Given the description of an element on the screen output the (x, y) to click on. 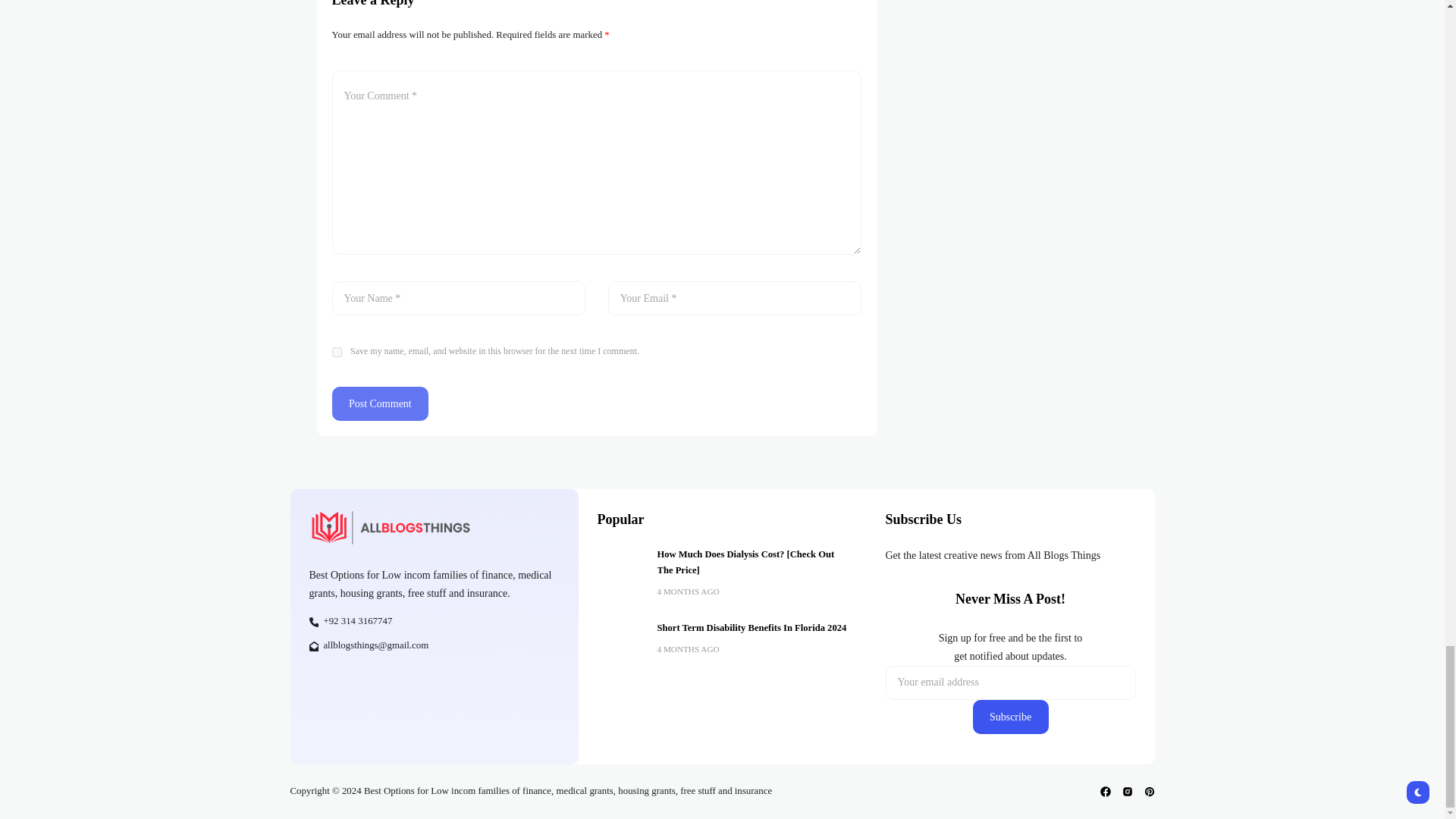
yes (336, 352)
Post Comment (380, 403)
